Given the description of an element on the screen output the (x, y) to click on. 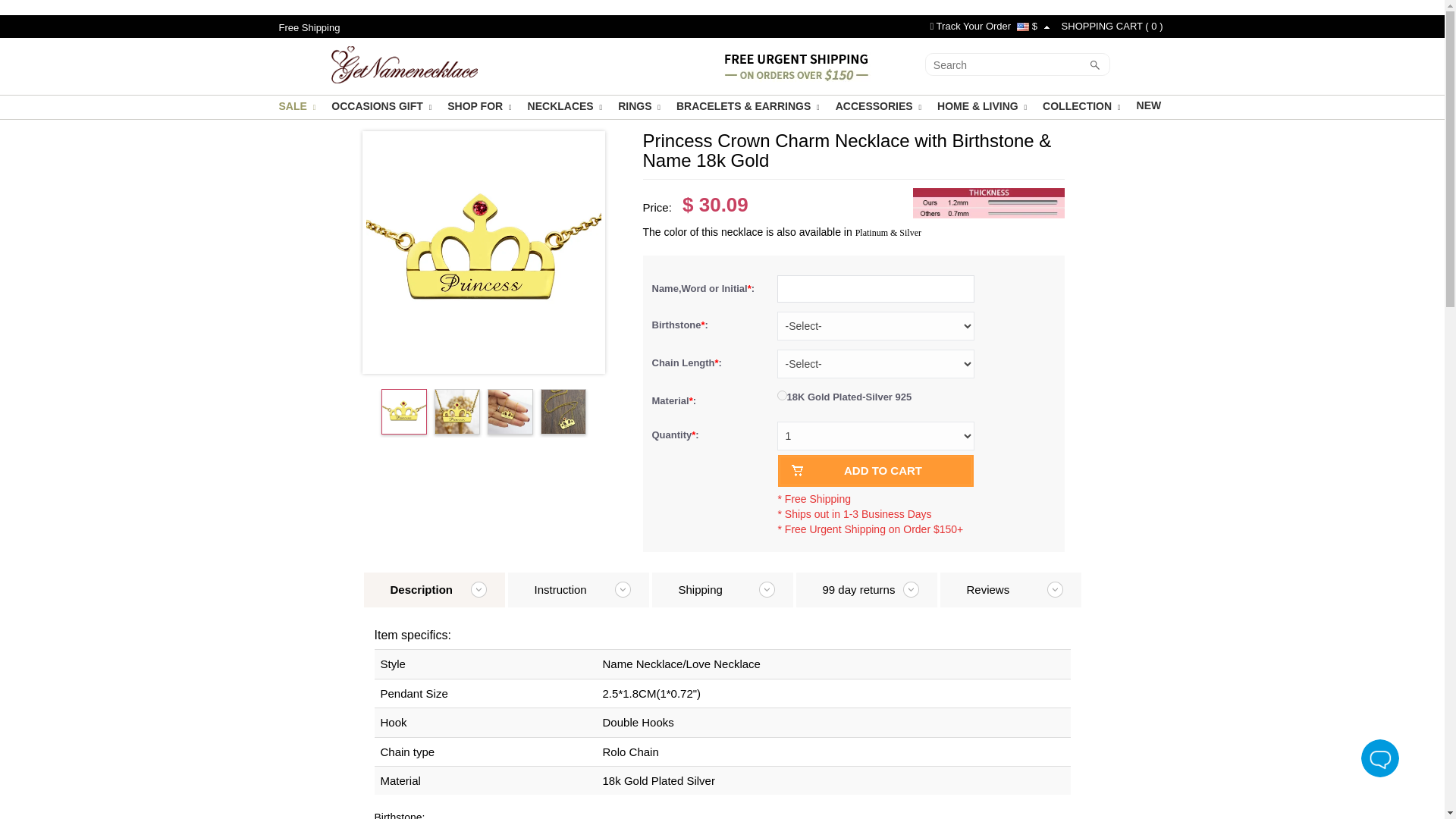
Searh (1005, 65)
24744 (781, 395)
name necklace,nameplate necklaces (404, 63)
